Given the description of an element on the screen output the (x, y) to click on. 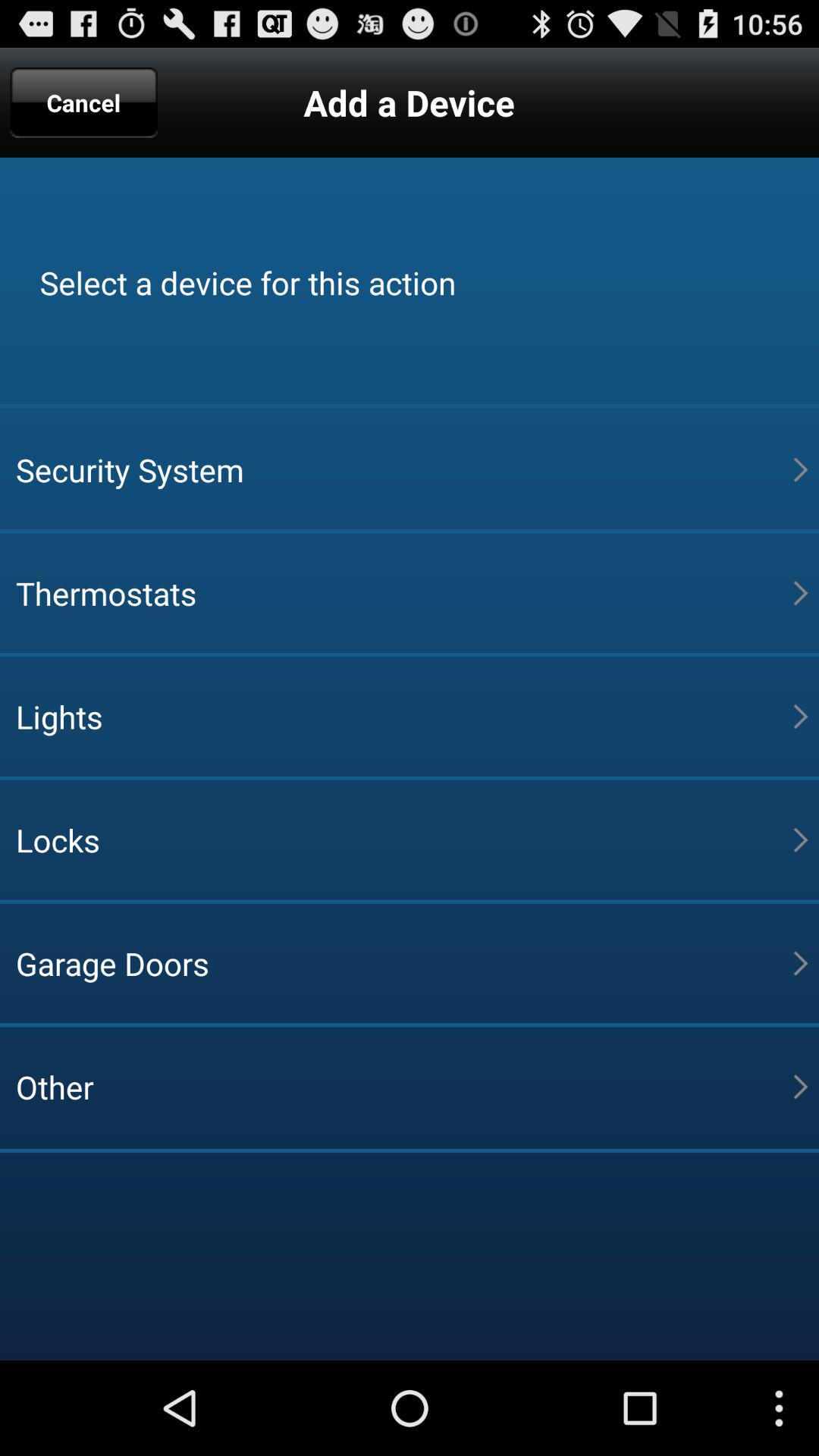
launch icon below the garage doors app (403, 1086)
